Given the description of an element on the screen output the (x, y) to click on. 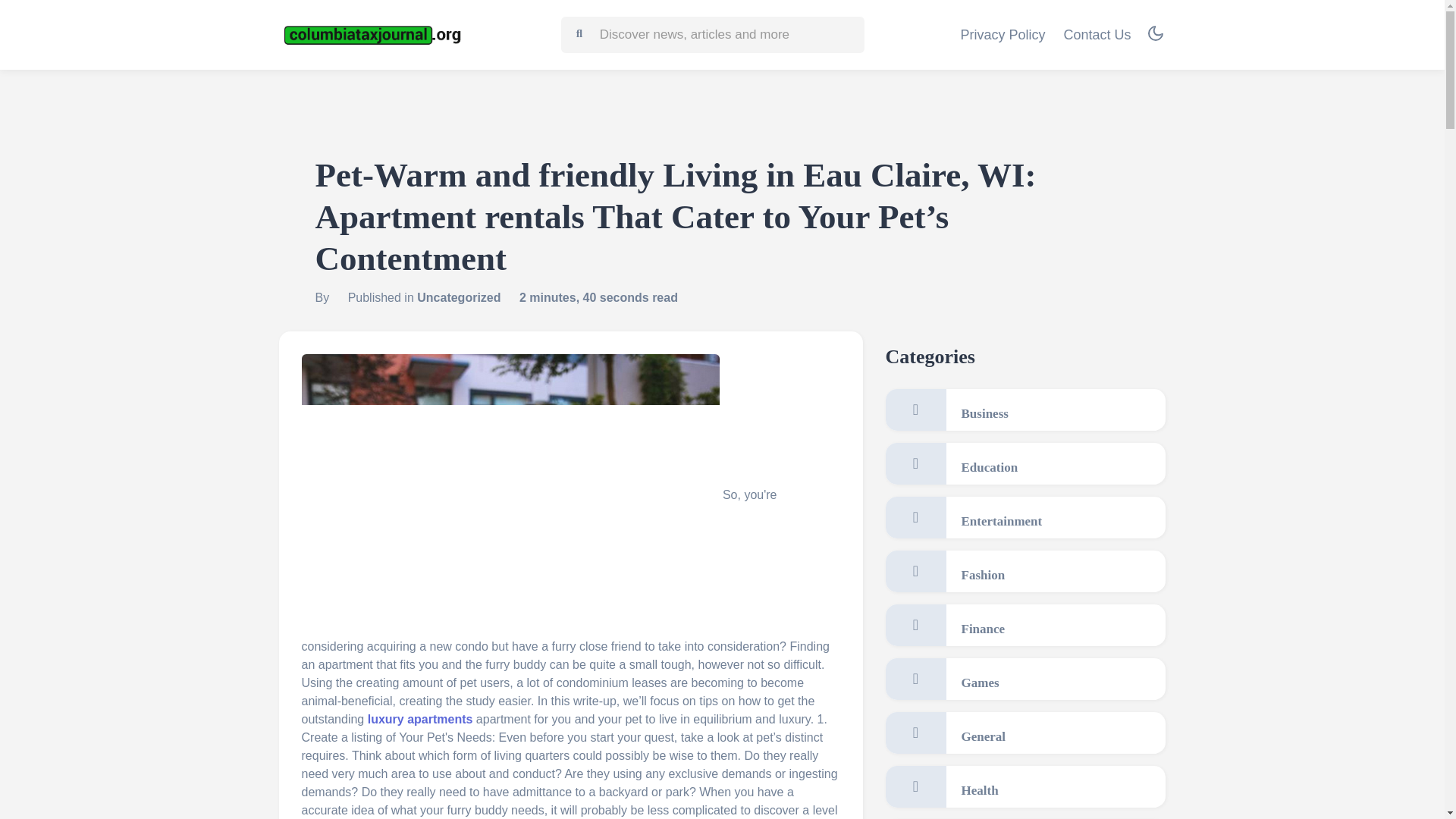
General (1025, 732)
Business (1025, 409)
Fashion (1025, 571)
luxury apartments (420, 718)
Contact Us (1097, 34)
Health (1025, 786)
Privacy Policy (1002, 34)
Finance (1025, 625)
Entertainment (1025, 517)
Uncategorized (458, 297)
